Given the description of an element on the screen output the (x, y) to click on. 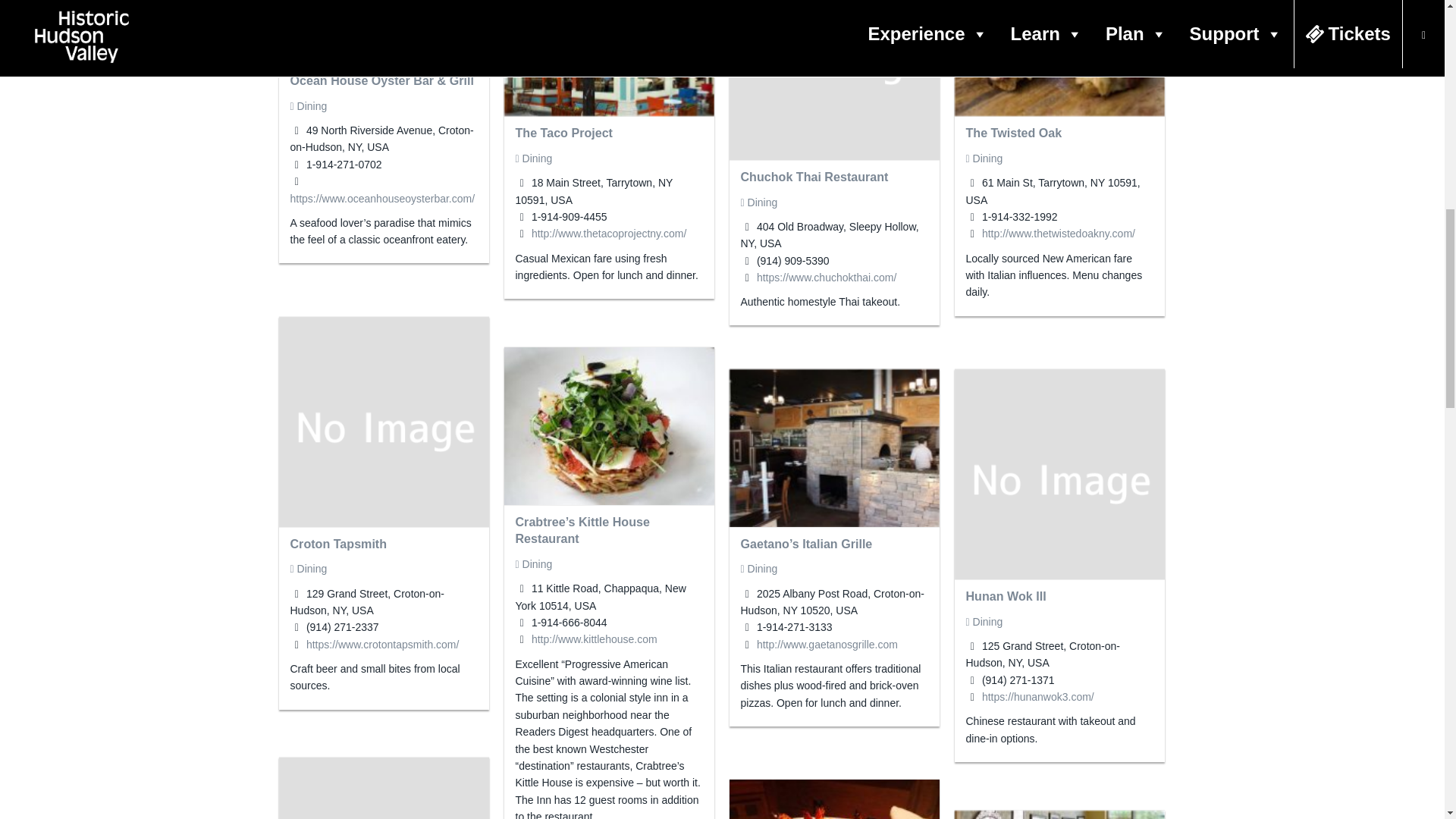
The Twisted Oak (1014, 132)
Croton Tapsmith (338, 543)
The Taco Project (563, 132)
Chuchok Thai Restaurant (813, 176)
